Given the description of an element on the screen output the (x, y) to click on. 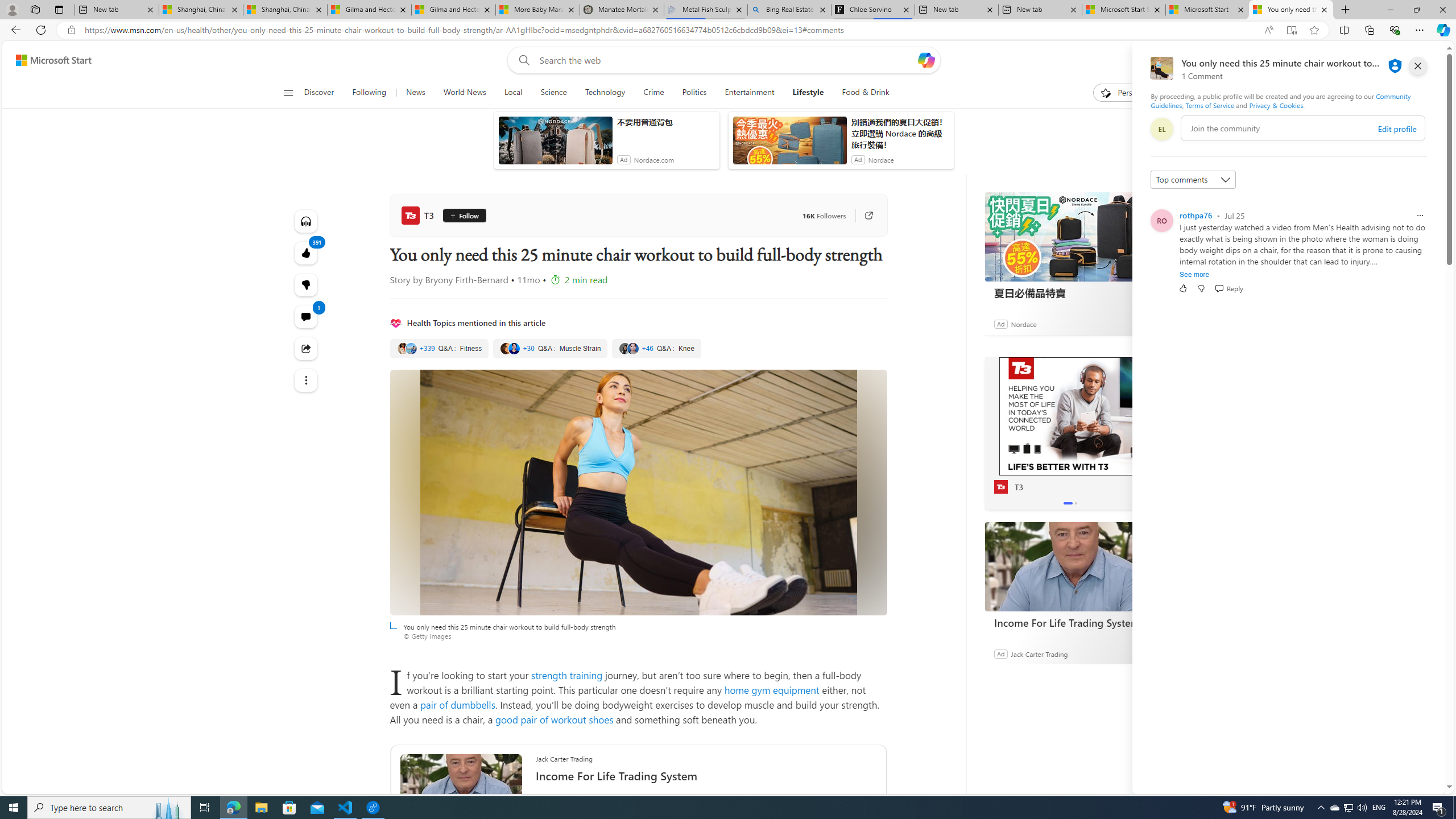
Dislike (1200, 287)
Reply Reply Comment (1228, 287)
Nordace.com (653, 159)
Jack Carter Trading (1039, 653)
Fitness (439, 348)
close (1417, 65)
Enter your search term (726, 59)
Personalize (1128, 92)
